Given the description of an element on the screen output the (x, y) to click on. 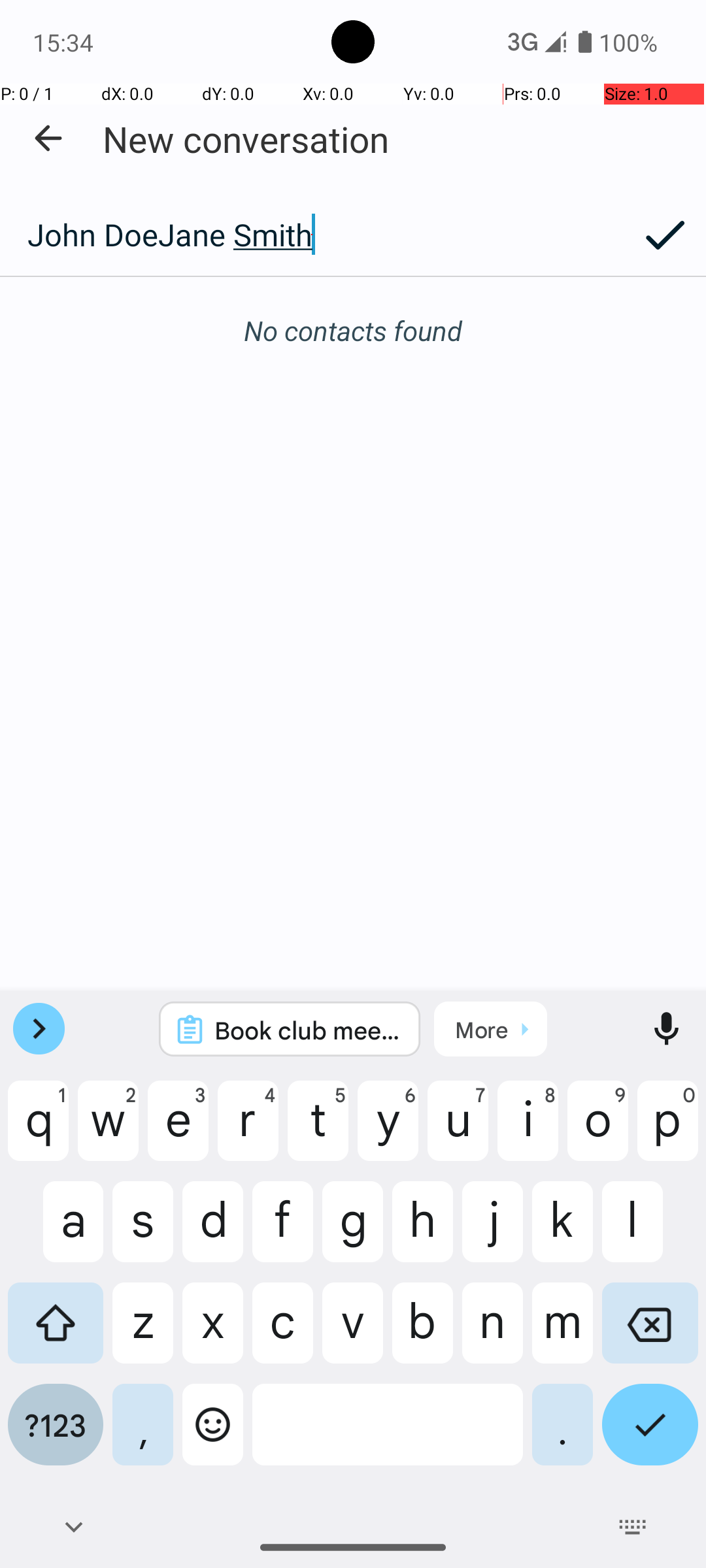
New conversation Element type: android.widget.TextView (245, 138)
John DoeJane Smith Element type: android.widget.EditText (311, 234)
No contacts found Element type: android.widget.TextView (353, 329)
Book club meets next Tuesday to discuss '1984'. Element type: android.widget.TextView (306, 1029)
